Given the description of an element on the screen output the (x, y) to click on. 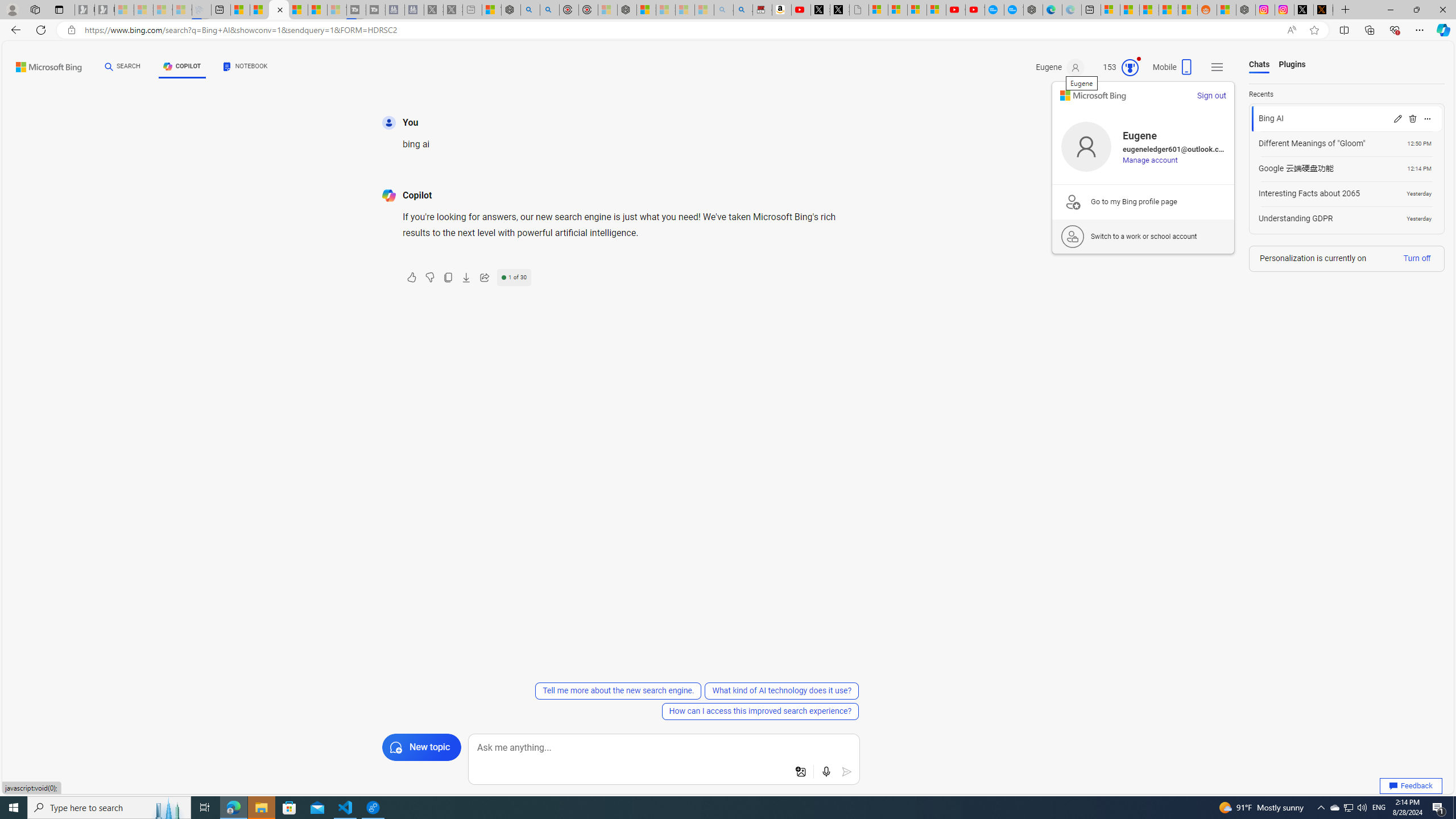
Mobile (1173, 70)
COPILOT (181, 68)
Tell me more about the new search engine. (618, 690)
Switch to a work or school account (1143, 235)
Go to my Bing profile page (1143, 201)
Shanghai, China weather forecast | Microsoft Weather (1129, 9)
Restore (1416, 9)
Tell me more about the new search engine. (618, 690)
Export (466, 277)
